Given the description of an element on the screen output the (x, y) to click on. 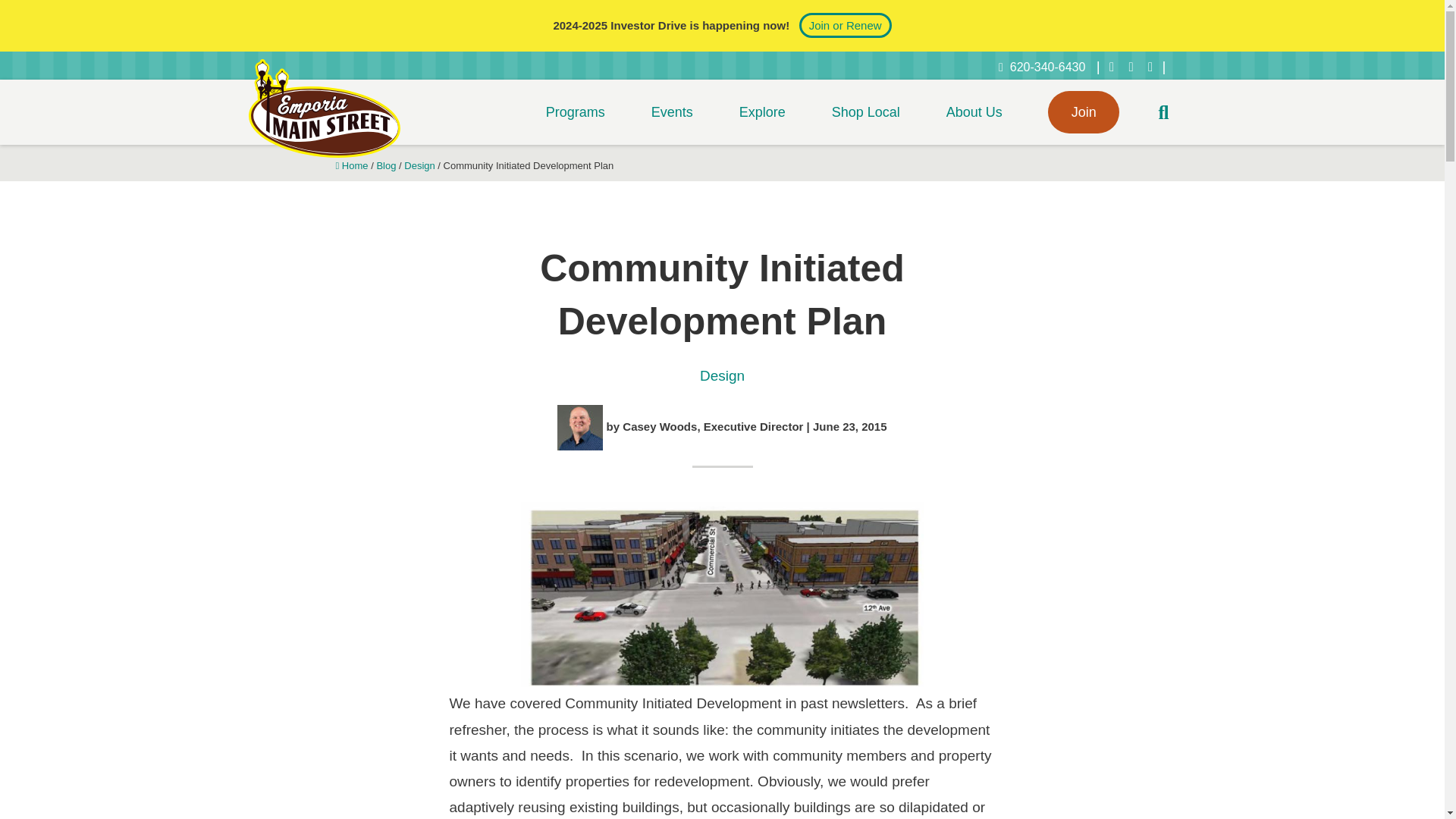
Main Street Logo-RGB (324, 108)
Join or Renew (845, 25)
Programs (574, 111)
